Given the description of an element on the screen output the (x, y) to click on. 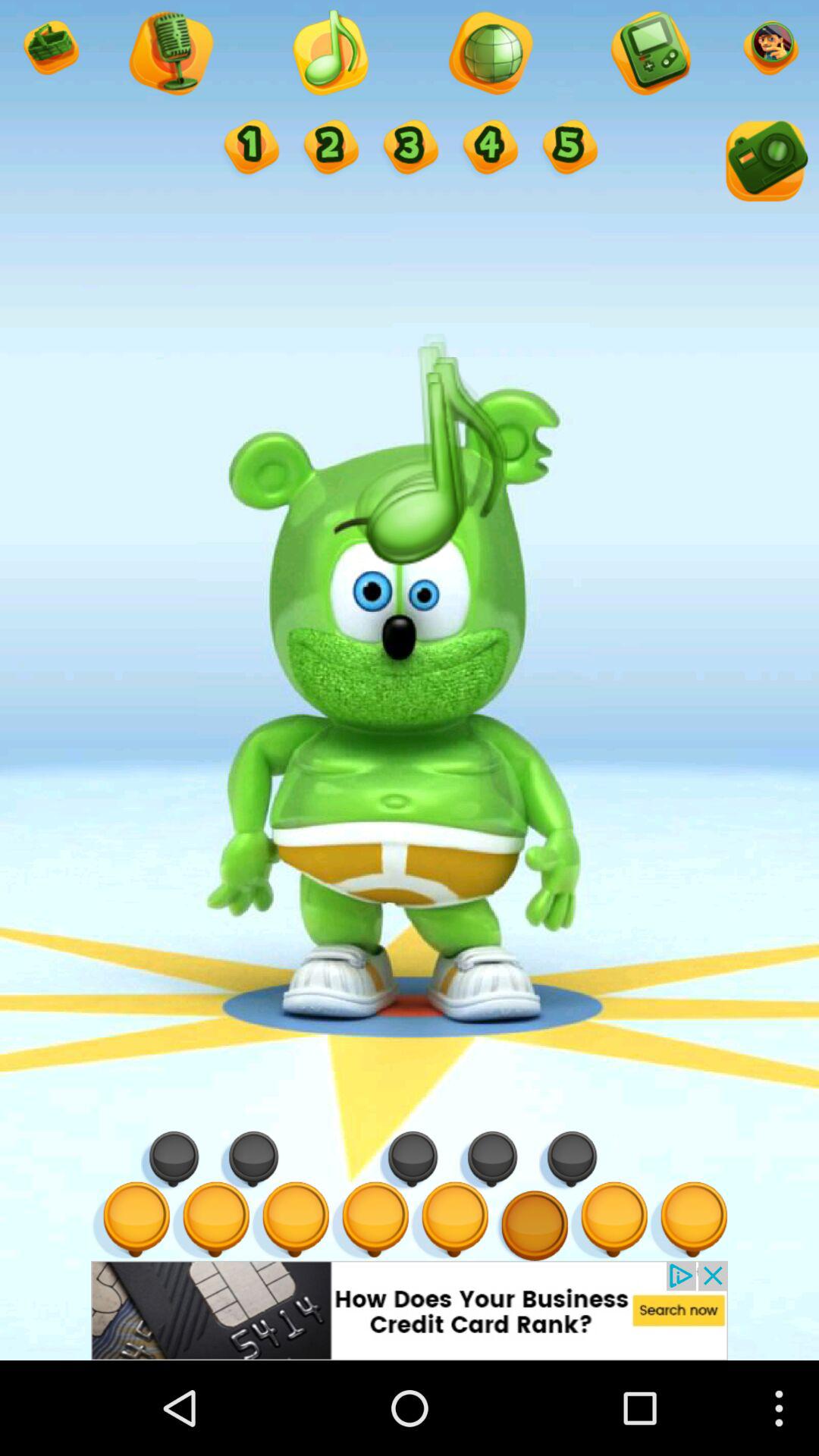
go to music (329, 55)
